Given the description of an element on the screen output the (x, y) to click on. 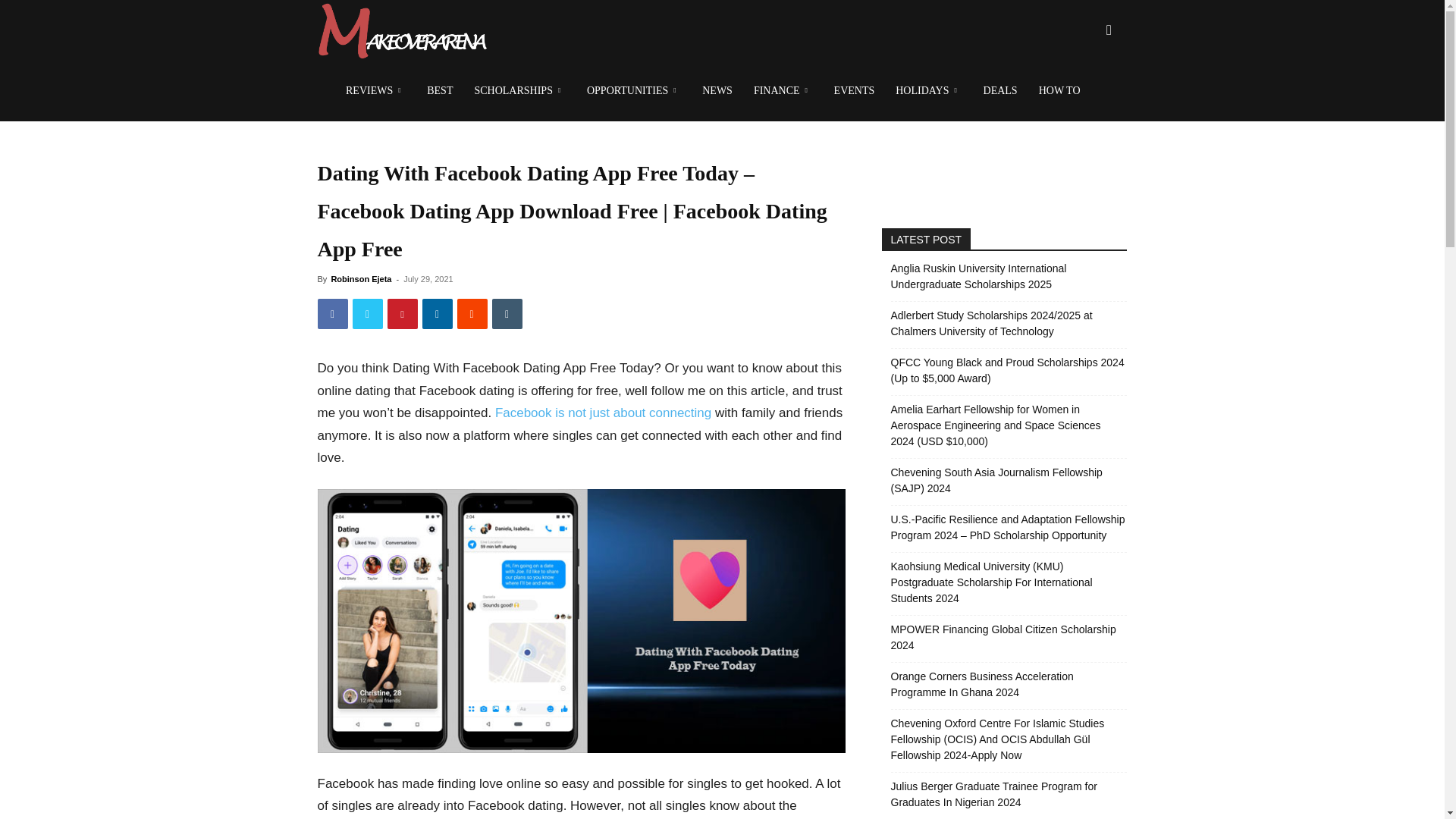
Twitter (366, 313)
ReddIt (471, 313)
Facebook (332, 313)
Tumblr (506, 313)
Pinterest (401, 313)
Linkedin (436, 313)
